Given the description of an element on the screen output the (x, y) to click on. 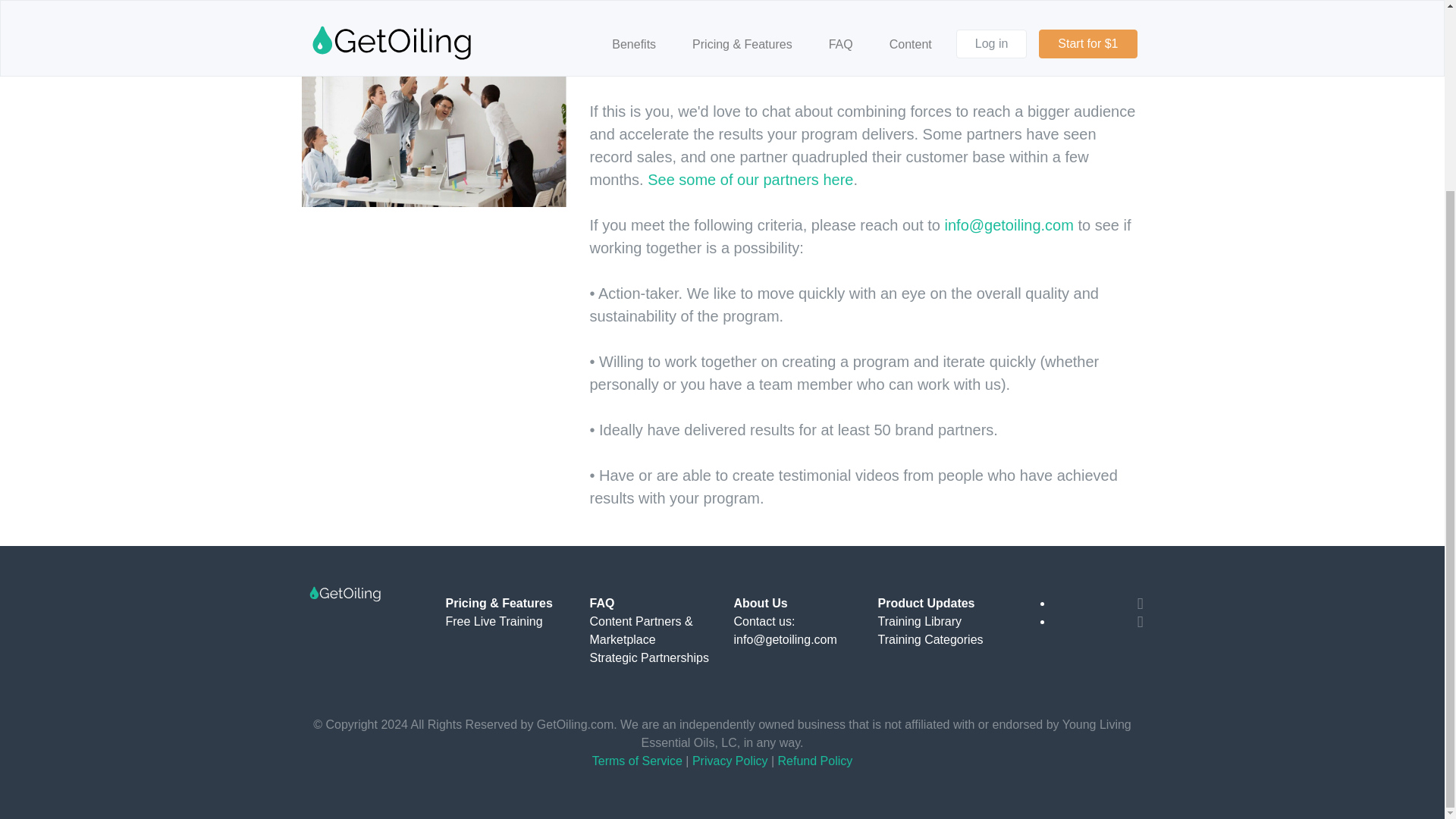
See some of our partners here (750, 179)
Terms of Service (637, 760)
Training Library (919, 621)
Product Updates (926, 603)
Training Categories (930, 639)
About Us (760, 603)
Strategic Partnerships (649, 657)
Privacy Policy (730, 760)
FAQ (601, 603)
Free Live Training (494, 621)
Refund Policy (815, 760)
